Given the description of an element on the screen output the (x, y) to click on. 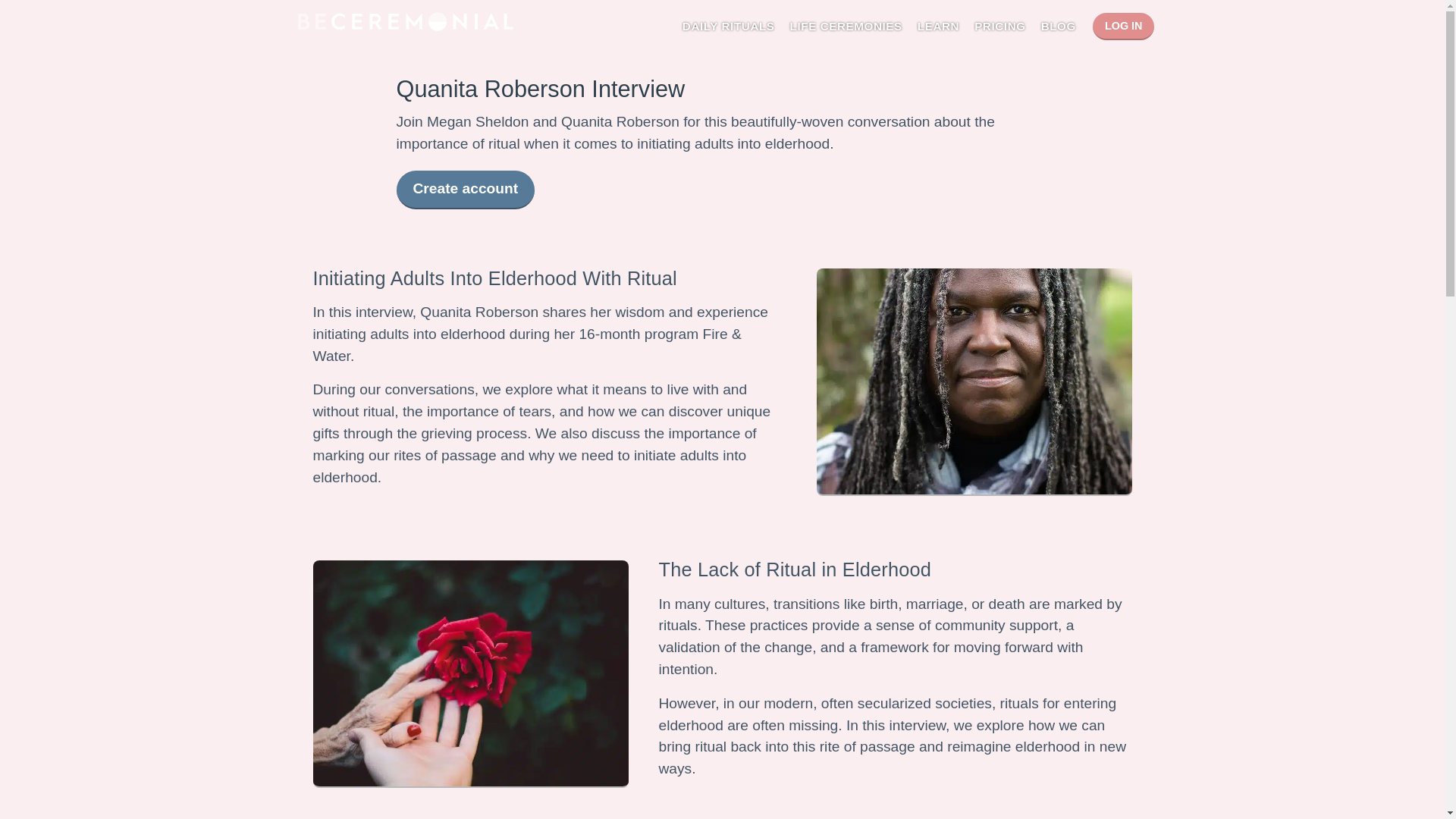
LIFE CEREMONIES (846, 26)
PRICING (1000, 26)
BLOG (1058, 26)
LOG IN (1123, 26)
LEARN (938, 26)
DAILY RITUALS (728, 26)
Create account (465, 189)
